Given the description of an element on the screen output the (x, y) to click on. 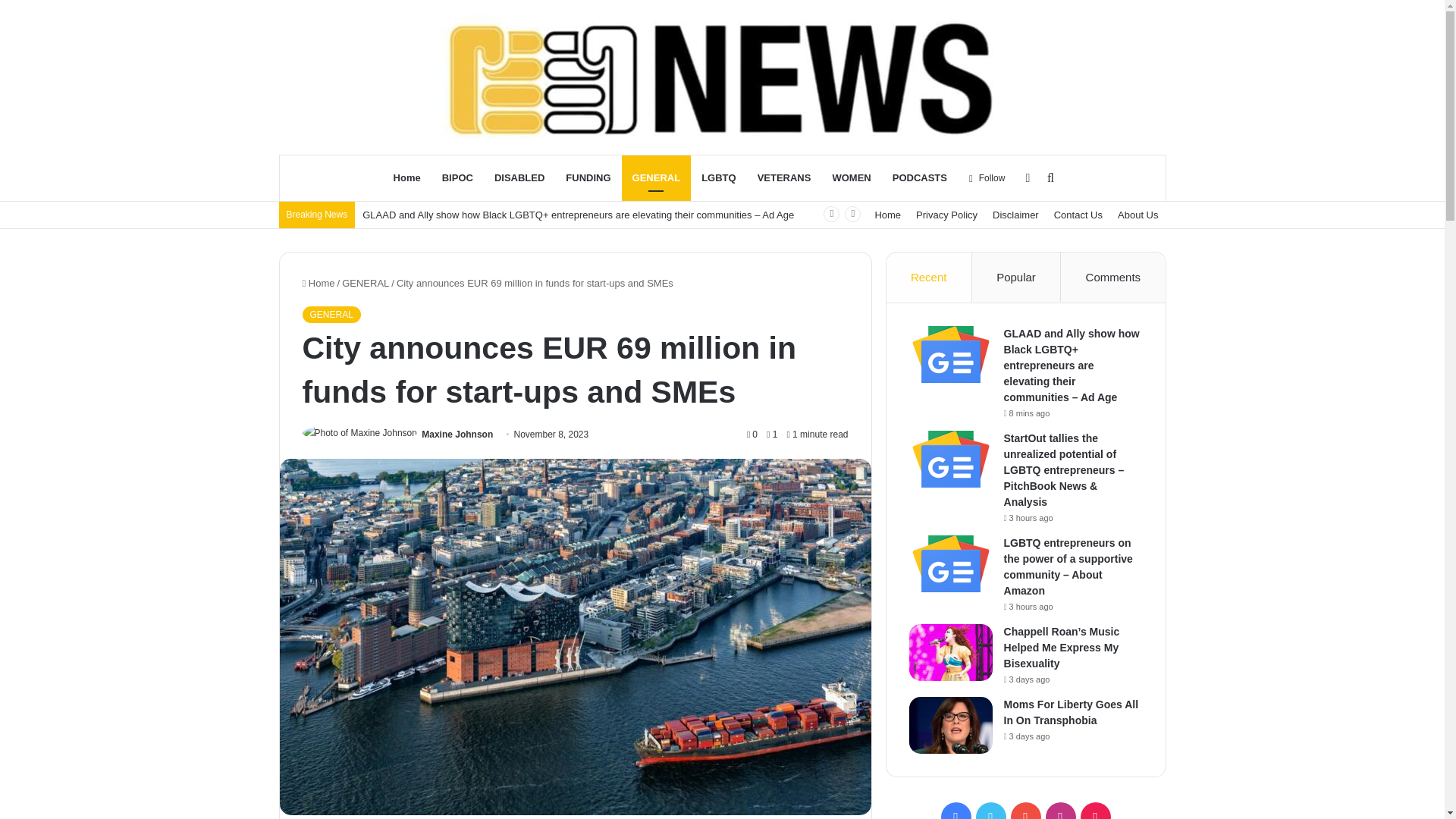
Maxine Johnson (457, 434)
Home (887, 214)
LGBTQ (718, 177)
Privacy Policy (946, 214)
GENERAL (365, 283)
FUNDING (587, 177)
VETERANS (784, 177)
DISABLED (518, 177)
Home (317, 283)
GENERAL (656, 177)
